Given the description of an element on the screen output the (x, y) to click on. 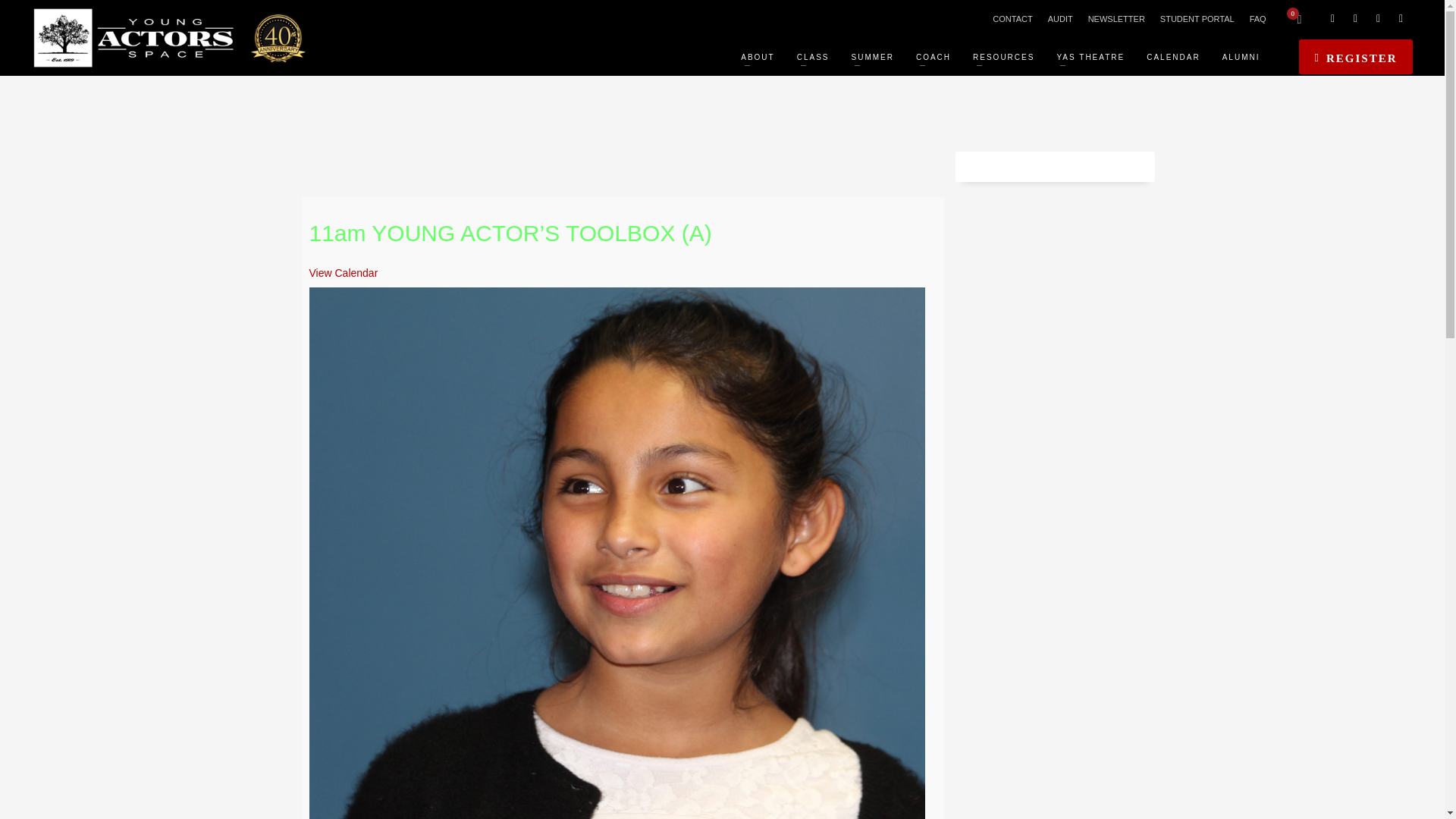
AUDIT (1060, 18)
CLASS (812, 56)
CONTACT (1012, 18)
STUDENT PORTAL (1197, 18)
View your shopping cart (1297, 18)
NEWSLETTER (1115, 18)
Instagram (1400, 18)
ABOUT (757, 56)
Facebook (1331, 18)
FAQ (1257, 18)
Twitter (1355, 18)
YouTube (1378, 18)
